Given the description of an element on the screen output the (x, y) to click on. 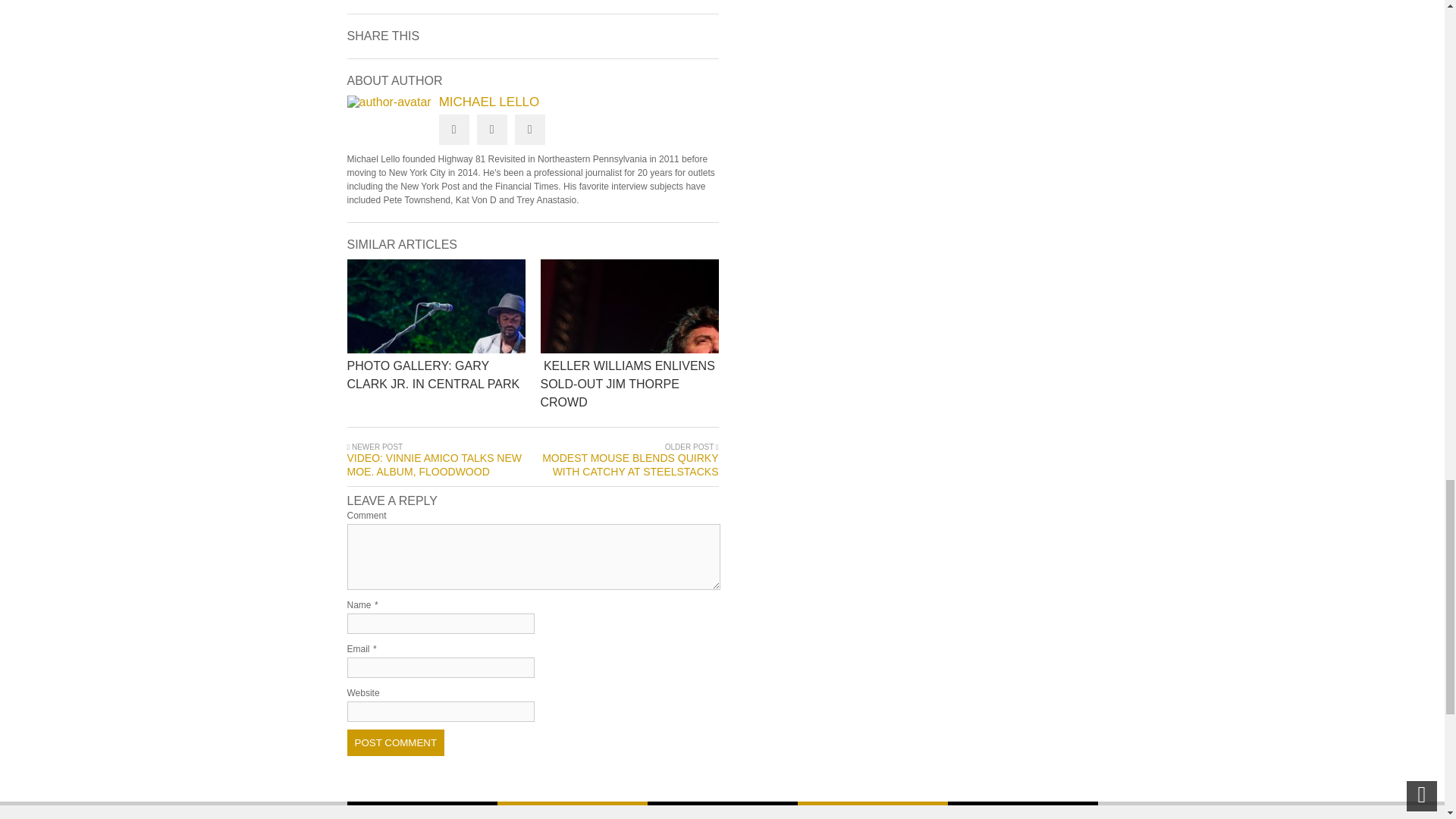
Facebook (491, 129)
Click to read (436, 305)
Google Plus (529, 129)
Posted by Michael Lello (533, 101)
Posted byMichael Lello  (388, 101)
Post Comment (396, 742)
PHOTO GALLERY: GARY CLARK JR. IN CENTRAL PARK (536, 385)
Twitter (453, 129)
